Given the description of an element on the screen output the (x, y) to click on. 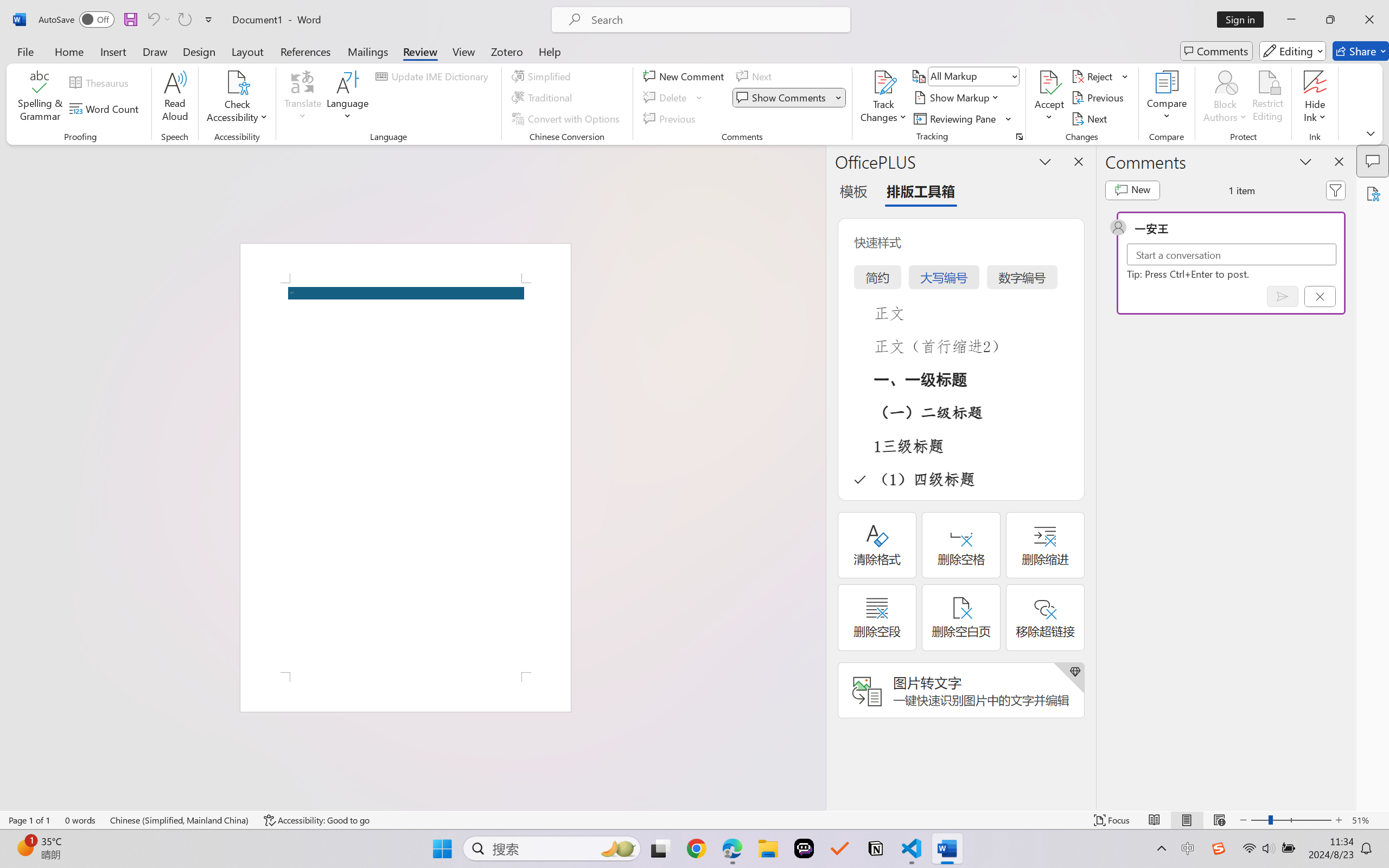
Delete (666, 97)
Convert with Options... (567, 118)
Block Authors (1224, 97)
Show Comments (782, 97)
Start a conversation (1231, 254)
